Given the description of an element on the screen output the (x, y) to click on. 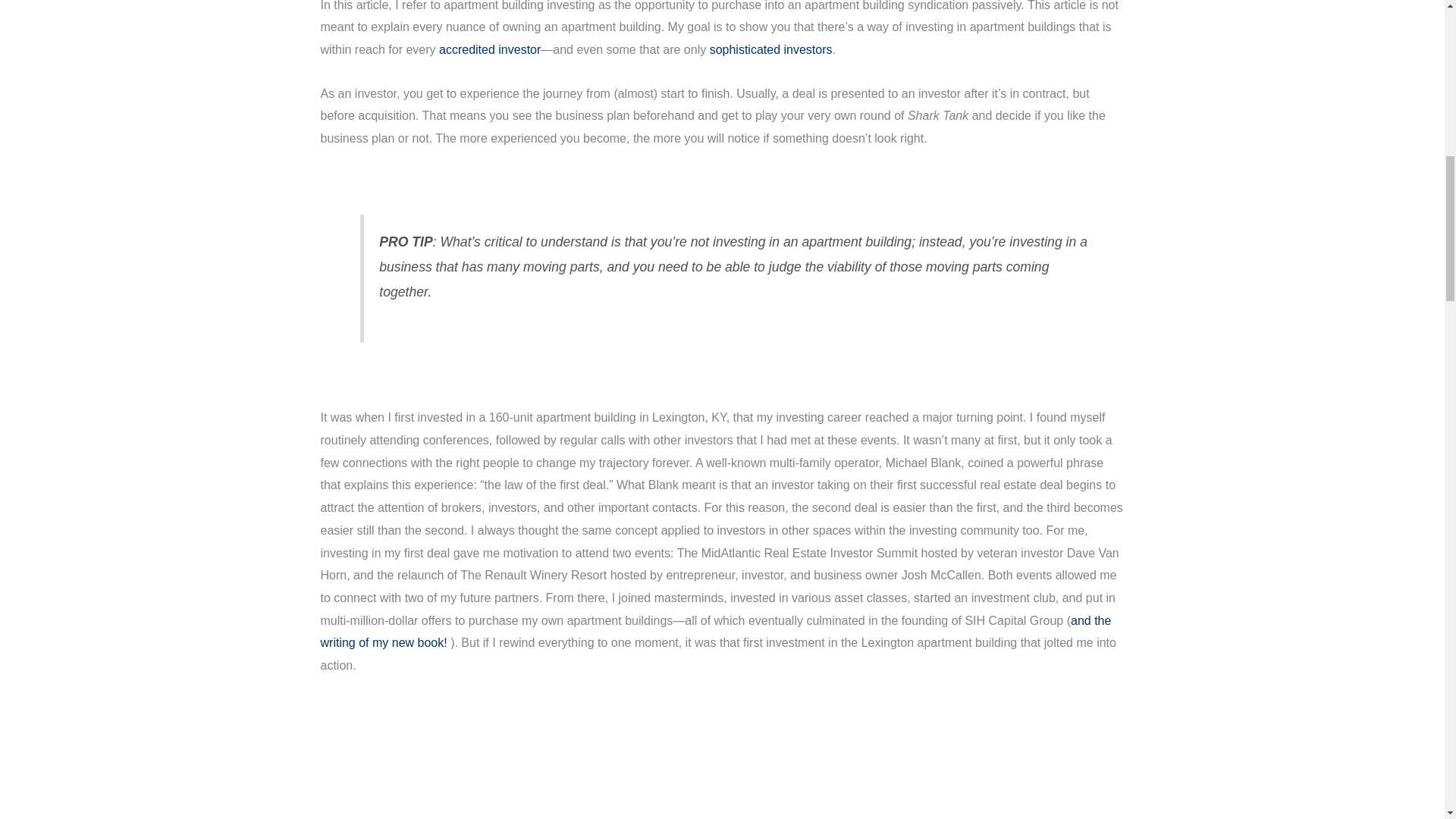
accredited investor (489, 49)
sophisticated investors (771, 49)
and the writing of my new book! (715, 632)
